Given the description of an element on the screen output the (x, y) to click on. 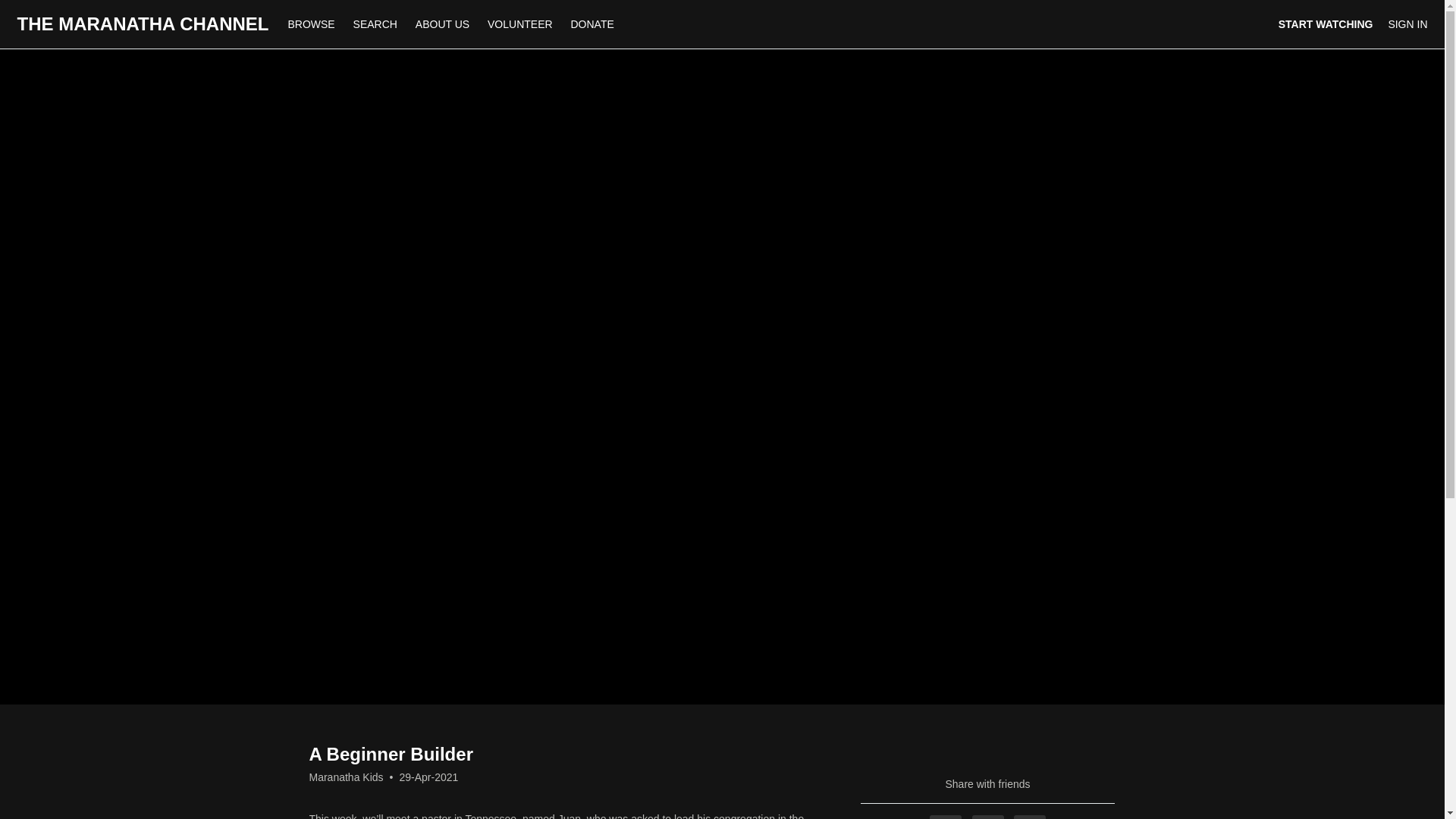
Skip to main content (48, 7)
ABOUT US (442, 24)
START WATCHING (1325, 24)
SEARCH (376, 24)
BROWSE (312, 24)
THE MARANATHA CHANNEL (141, 24)
DONATE (591, 24)
Facebook (945, 816)
Email (1029, 816)
Maranatha Kids (346, 776)
